Given the description of an element on the screen output the (x, y) to click on. 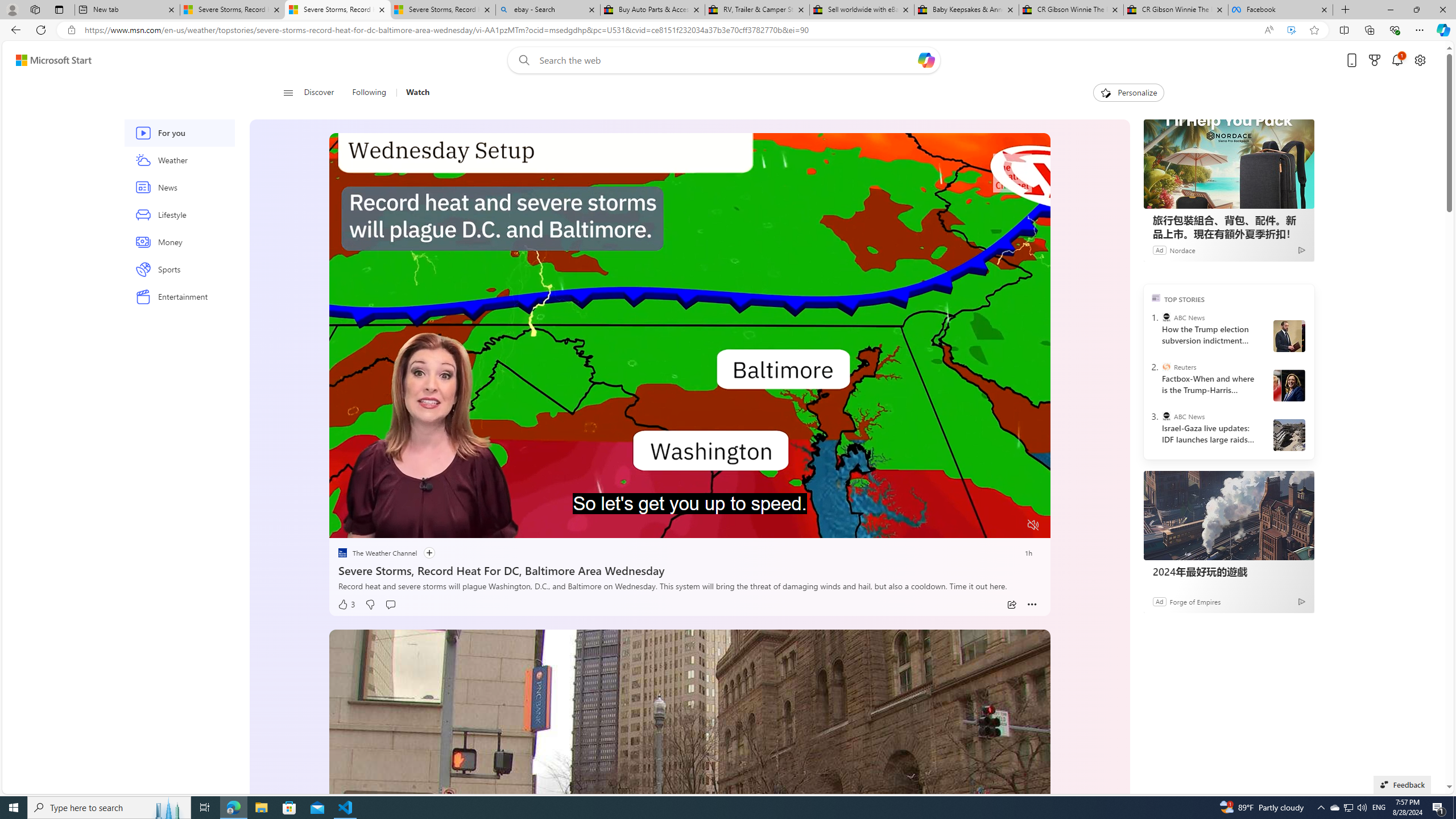
Enhance video (1291, 29)
Reuters (1165, 366)
More (1031, 604)
Seek Forward (391, 525)
